Given the description of an element on the screen output the (x, y) to click on. 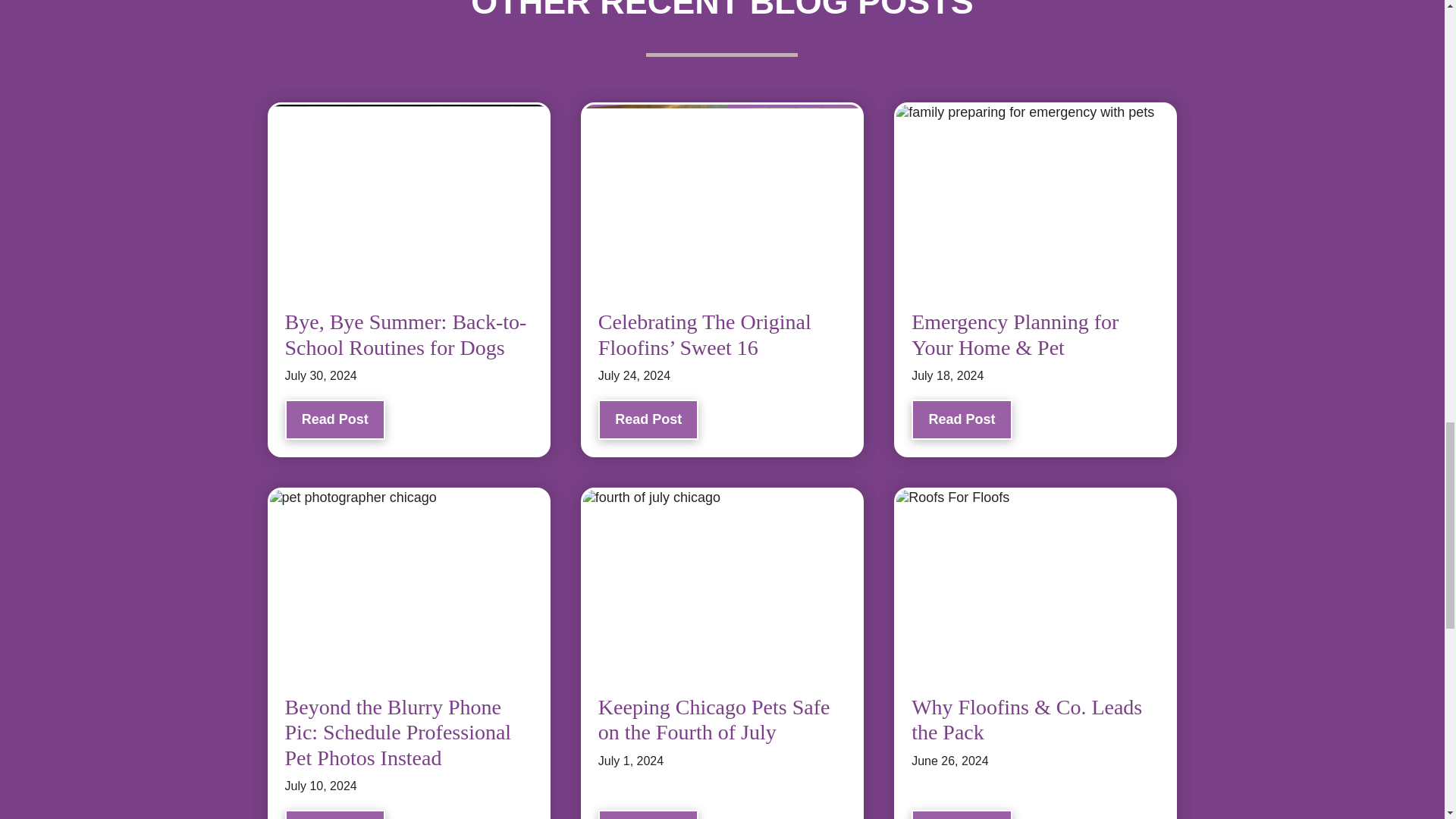
Read Post (961, 419)
Read Post (335, 419)
Read Post (648, 419)
